Given the description of an element on the screen output the (x, y) to click on. 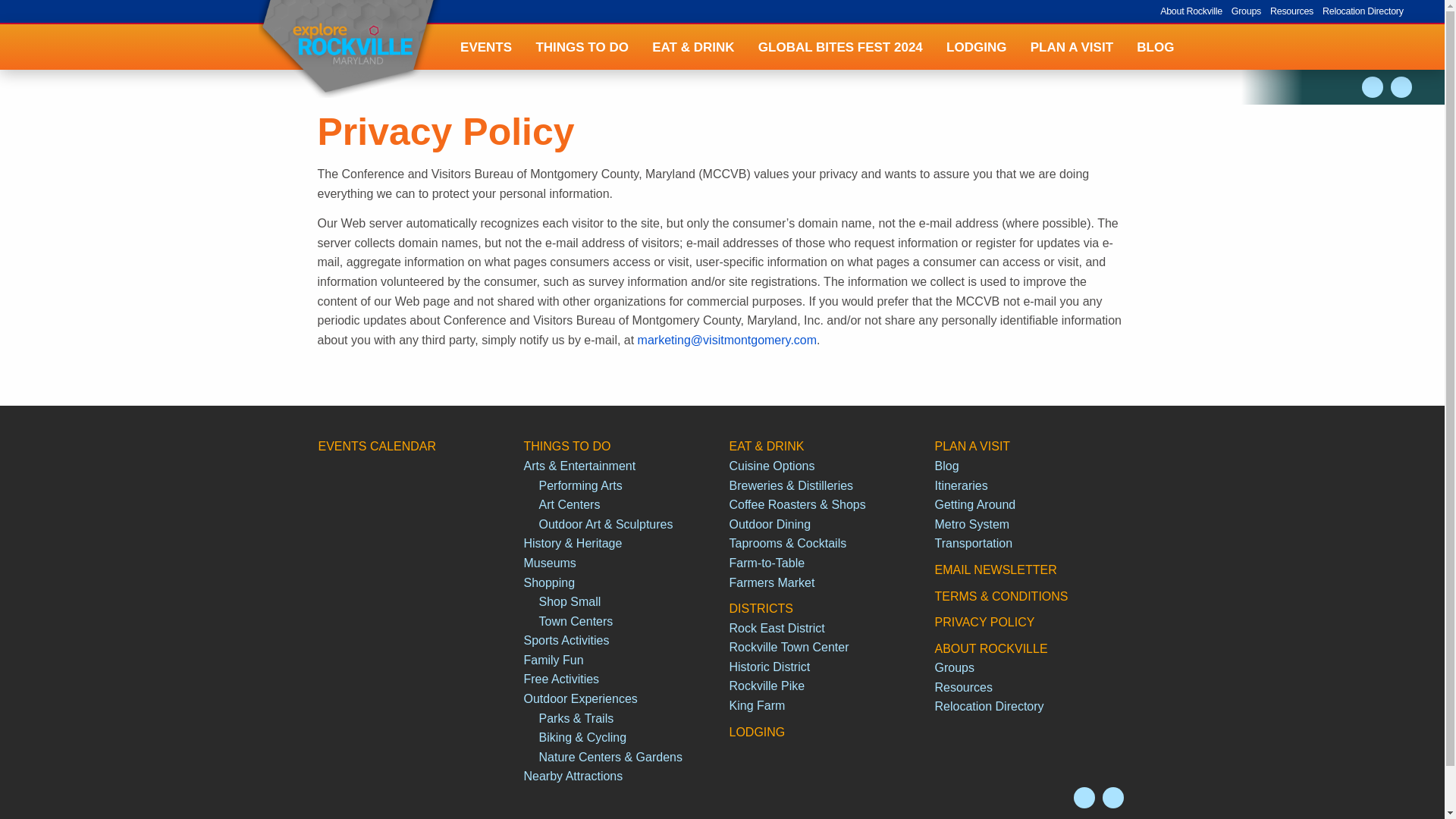
Resources (1291, 11)
About Rockville (1191, 11)
EVENTS (485, 46)
THINGS TO DO (582, 46)
Facebook (1113, 797)
Instagram (1372, 86)
BLOG (1155, 46)
Facebook (1401, 86)
Groups (1246, 11)
Instagram (1084, 797)
